Given the description of an element on the screen output the (x, y) to click on. 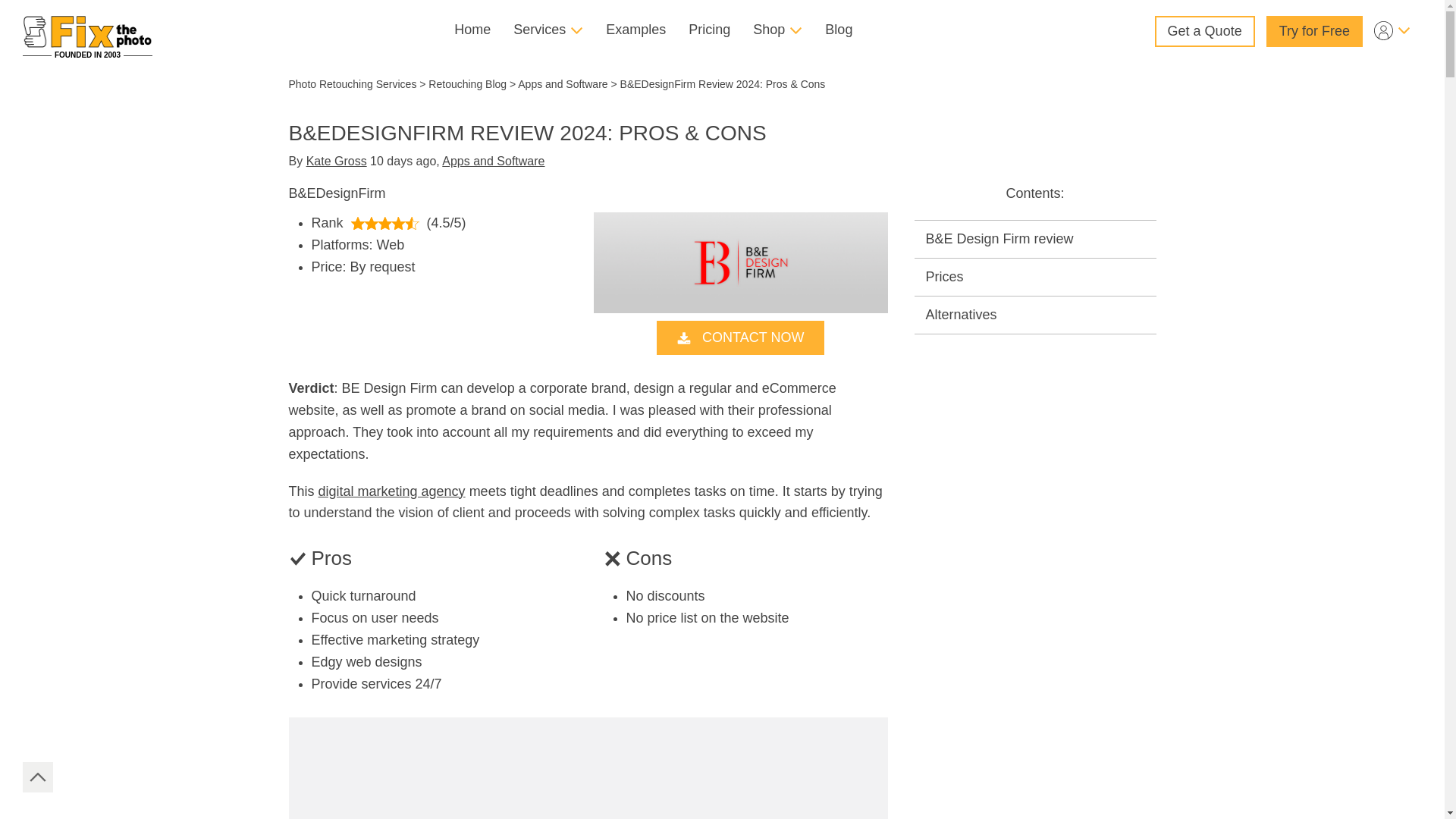
Professional photo editing services (472, 29)
Examples (635, 29)
Services (548, 29)
Get a Quote (1204, 30)
Try for Free (1314, 30)
Blog (838, 29)
Image retouching service (87, 31)
Pricing (709, 29)
Examples (635, 29)
Shop (777, 29)
Home (472, 29)
Shop (777, 29)
Pricing (709, 29)
Services (548, 29)
